Given the description of an element on the screen output the (x, y) to click on. 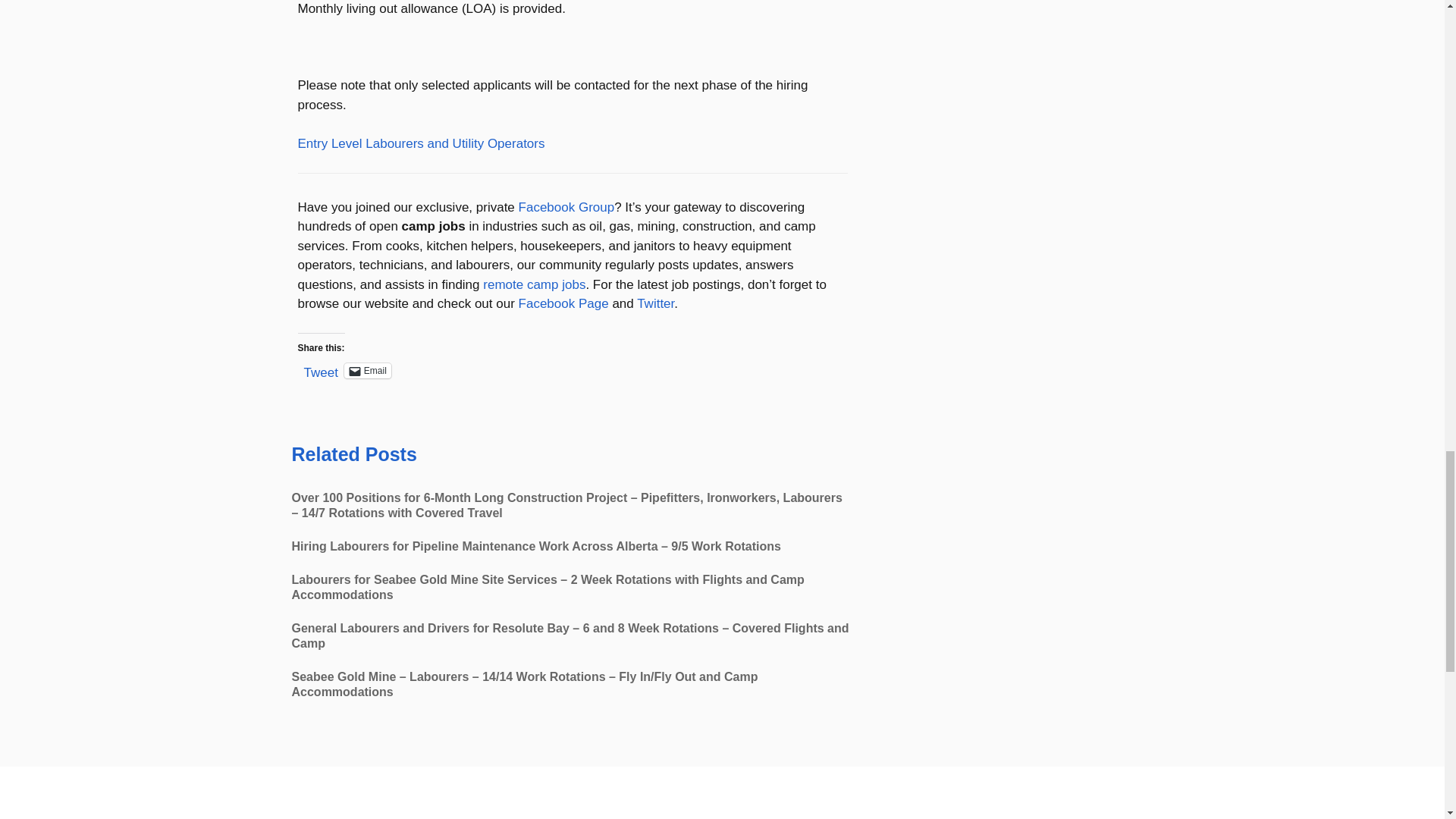
Click to email a link to a friend (367, 370)
Tweet (319, 369)
Entry Level Labourers and Utility Operators (420, 143)
Facebook Group (566, 206)
Email (367, 370)
Facebook Page (563, 303)
Twitter (655, 303)
remote camp jobs (534, 284)
